Given the description of an element on the screen output the (x, y) to click on. 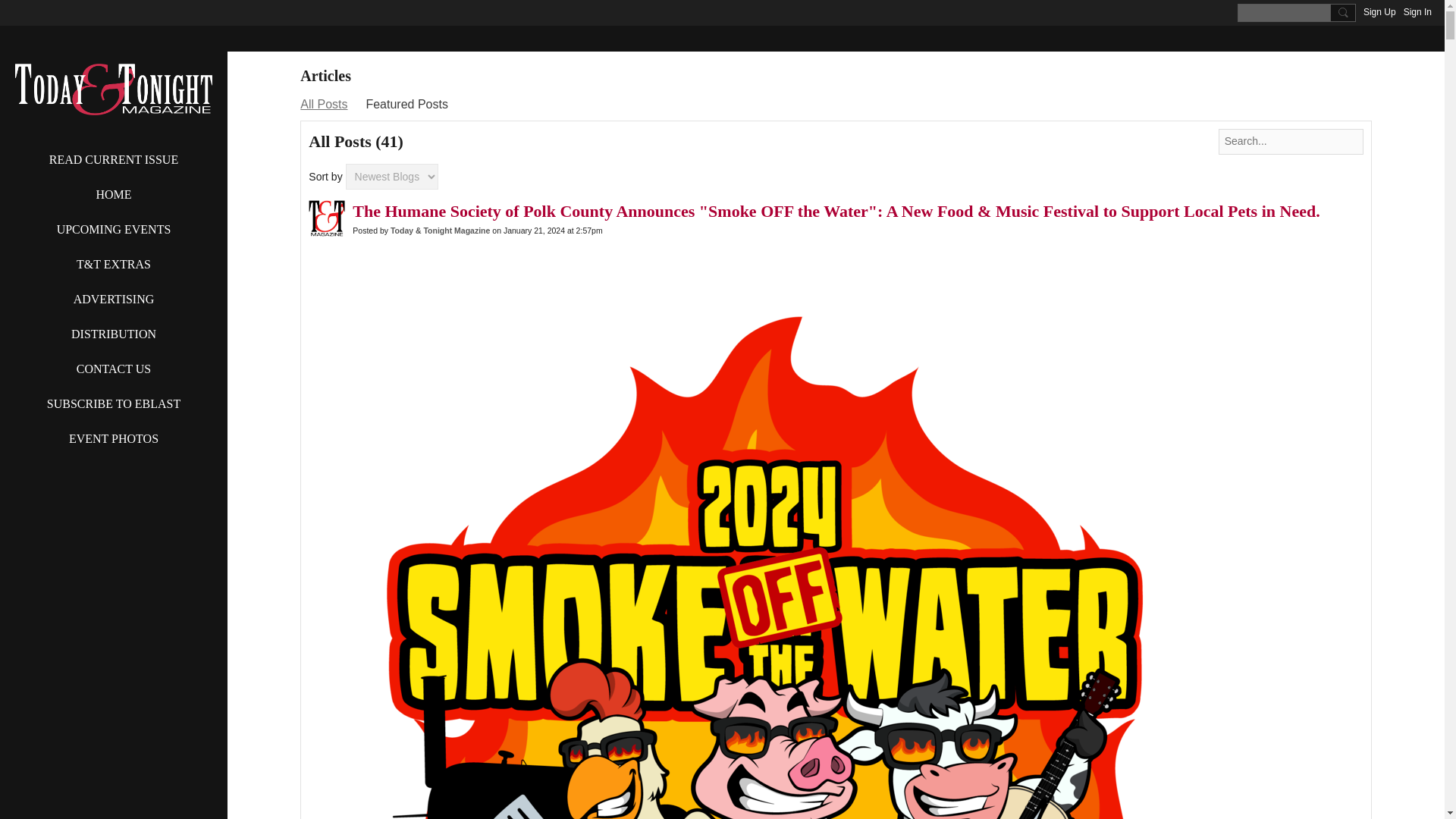
UPCOMING EVENTS (113, 229)
READ CURRENT ISSUE (113, 159)
ADVERTISING (113, 298)
Sign Up (1379, 12)
All Posts (323, 104)
Featured Posts (406, 104)
HOME (113, 194)
CONTACT US (113, 369)
Sign In (1417, 12)
SUBSCRIBE TO EBLAST (113, 403)
EVENT PHOTOS (113, 438)
DISTRIBUTION (113, 334)
